Given the description of an element on the screen output the (x, y) to click on. 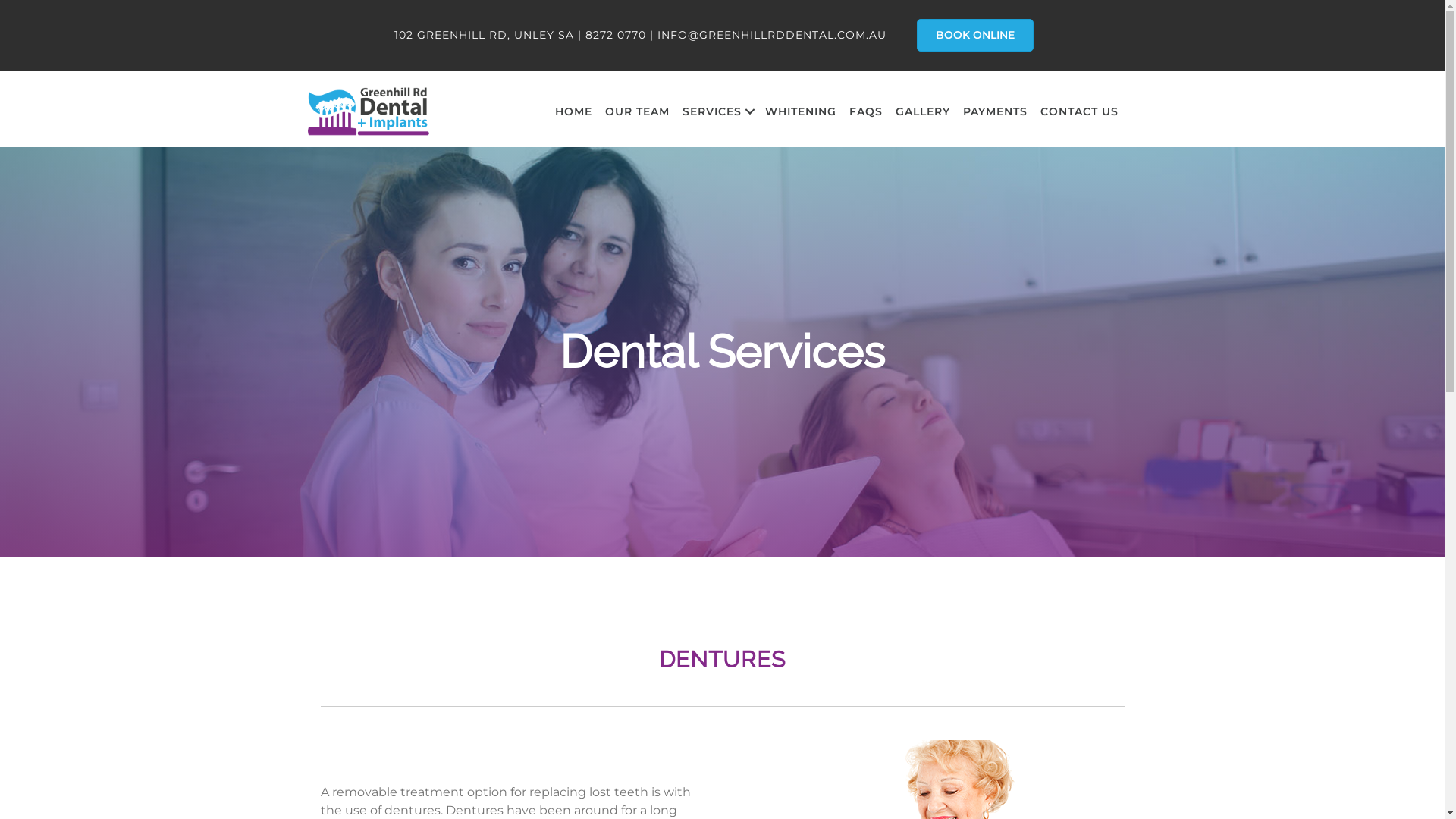
PAYMENTS Element type: text (995, 111)
BOOK ONLINE Element type: text (974, 34)
GALLERY Element type: text (921, 111)
FAQS Element type: text (865, 111)
8272 0770 Element type: text (615, 34)
CONTACT US Element type: text (1079, 111)
GRD_Logo2 Element type: hover (366, 110)
INFO@GREENHILLRDDENTAL.COM.AU Element type: text (771, 34)
SERVICES Element type: text (717, 111)
OUR TEAM Element type: text (637, 111)
WHITENING Element type: text (799, 111)
HOME Element type: text (573, 111)
